Given the description of an element on the screen output the (x, y) to click on. 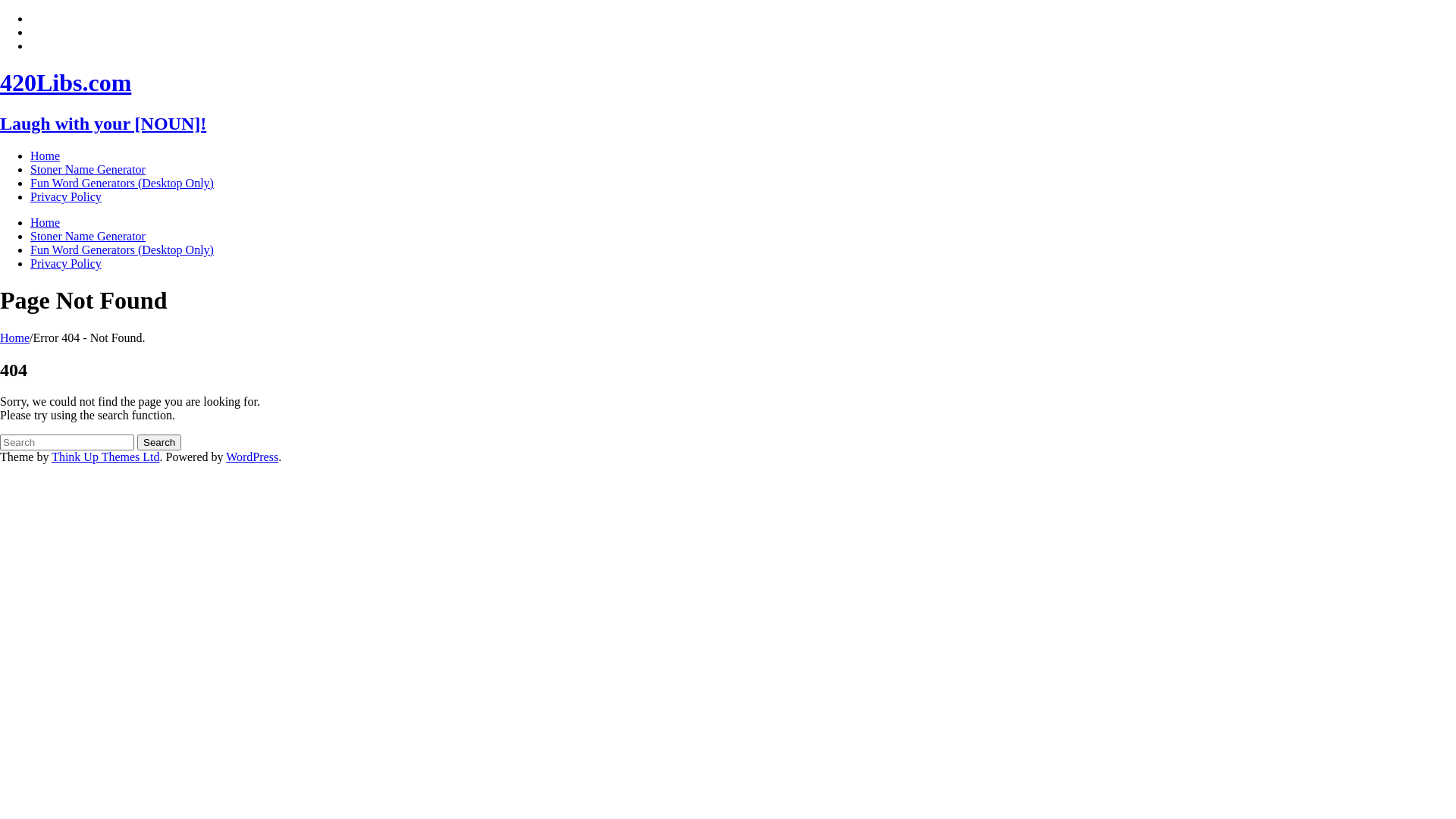
Think Up Themes Ltd Element type: text (105, 456)
WordPress Element type: text (251, 456)
Privacy Policy Element type: text (65, 263)
Home Element type: text (14, 337)
Search Element type: text (159, 442)
Stoner Name Generator Element type: text (87, 169)
Home Element type: text (44, 222)
Privacy Policy Element type: text (65, 196)
Fun Word Generators (Desktop Only) Element type: text (121, 249)
Home Element type: text (44, 155)
Fun Word Generators (Desktop Only) Element type: text (121, 182)
Stoner Name Generator Element type: text (87, 235)
